Given the description of an element on the screen output the (x, y) to click on. 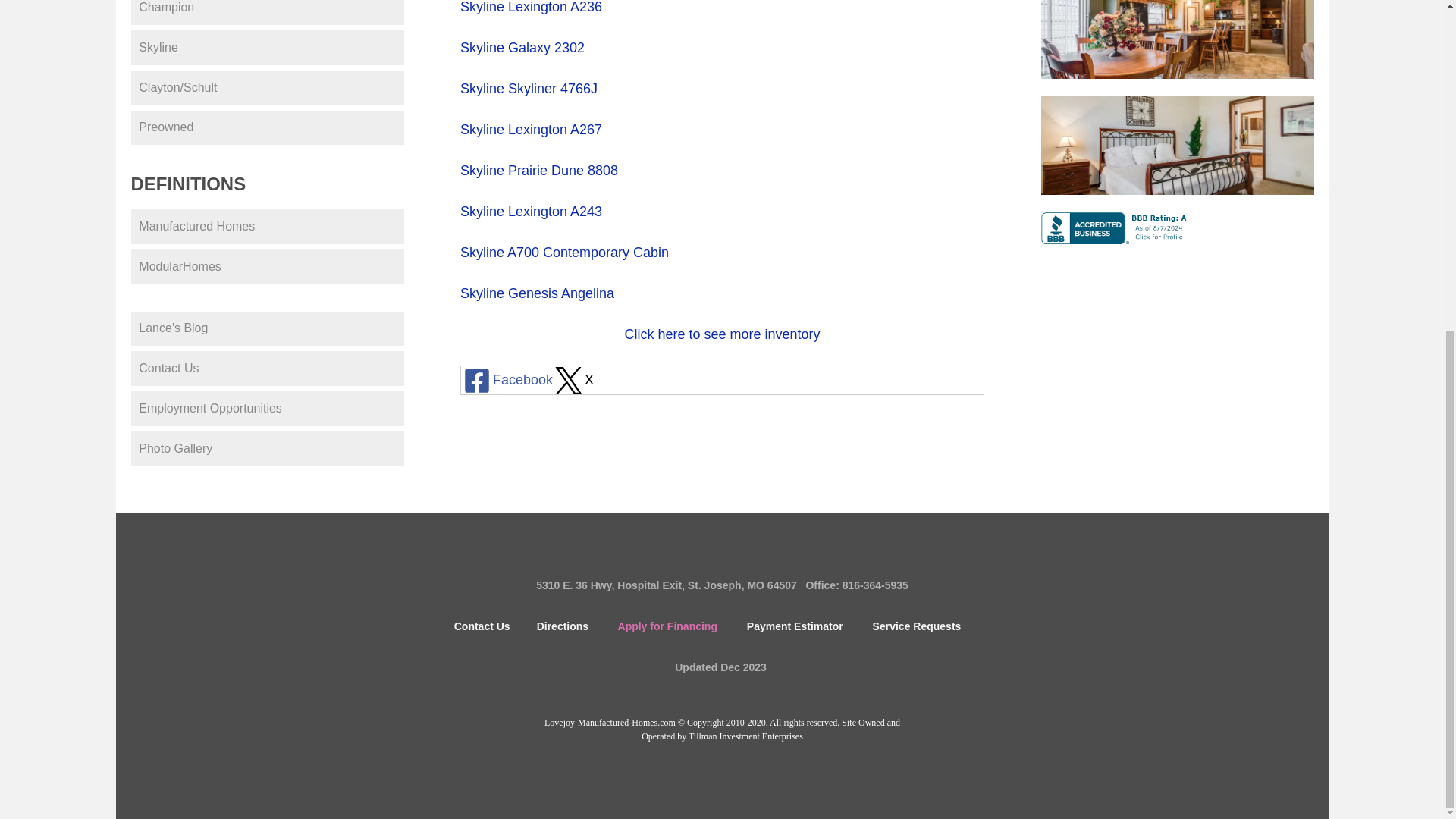
Click here to see more inventory (721, 334)
Manufactured Homes (267, 226)
Skyline (267, 47)
X (573, 379)
Skyline Genesis Angelina  (538, 293)
Contact Us (267, 368)
Champion (267, 12)
Lance's Blog (267, 329)
Skyline Skyliner 4766J (528, 88)
Skyline Prairie Dune 8808 (538, 170)
Facebook (507, 379)
Skyline Lexington A267 (531, 129)
Skyline Lexington Bedroom (1177, 145)
Skyline A700 Contemporary Cabin (564, 252)
Skyline Galaxy 2302 (522, 47)
